Given the description of an element on the screen output the (x, y) to click on. 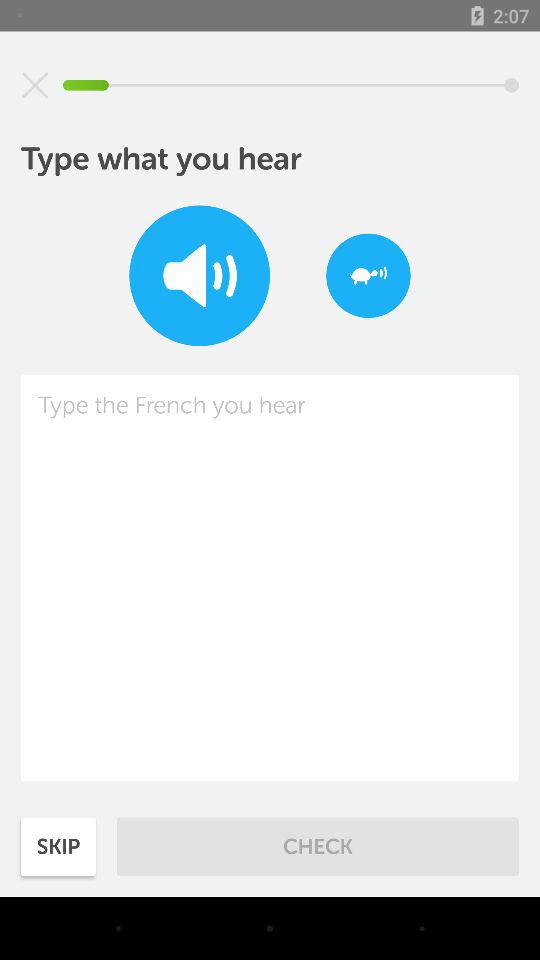
choose the icon to the right of skip item (318, 846)
